Given the description of an element on the screen output the (x, y) to click on. 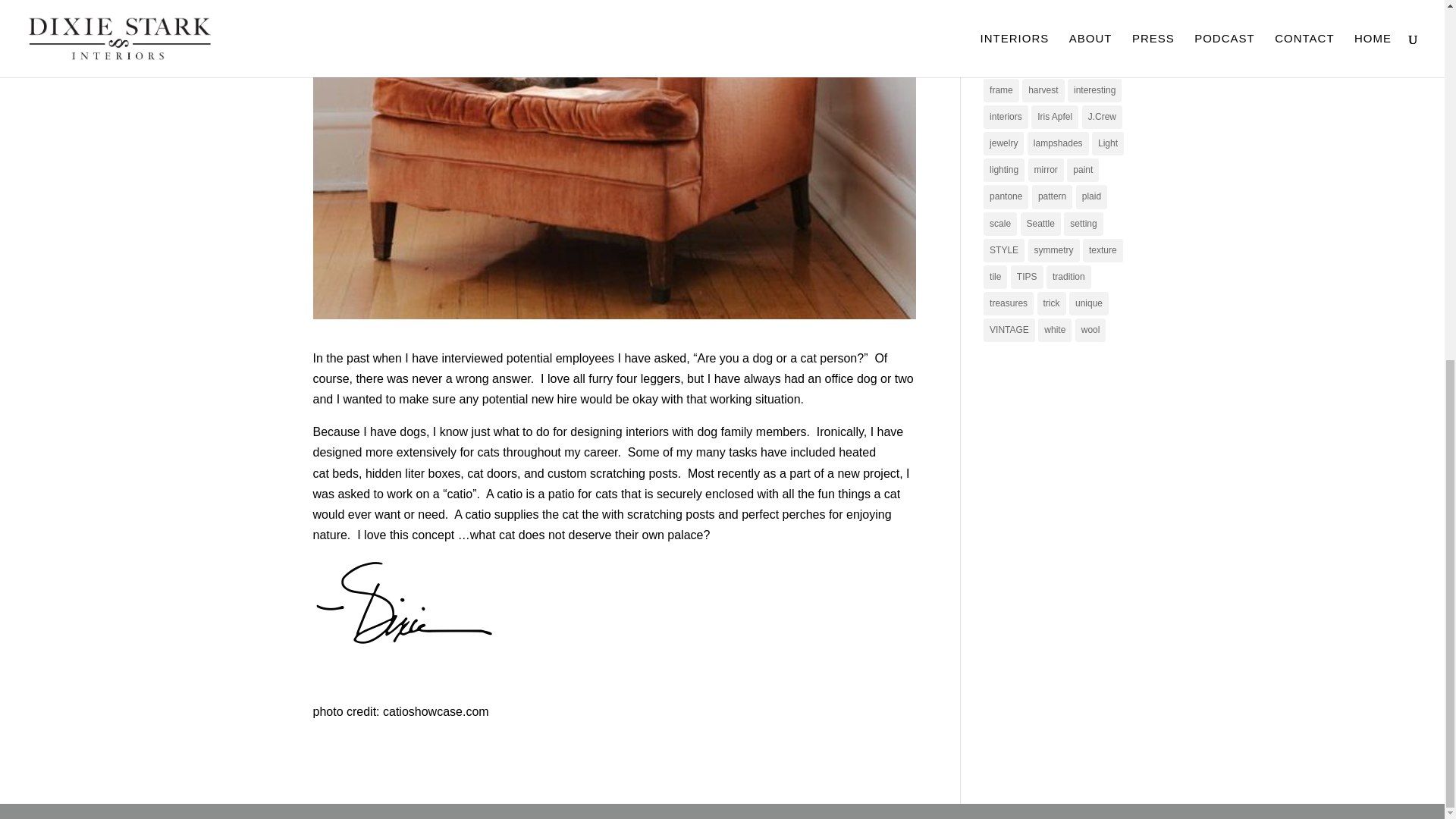
harvest (1043, 90)
coloring books (1019, 11)
frame (1001, 90)
interiors (1005, 116)
dark (1072, 11)
interesting (1094, 90)
fashion (1106, 63)
display (1053, 36)
Dixie Stark Collection (1032, 63)
designer (1007, 36)
